Given the description of an element on the screen output the (x, y) to click on. 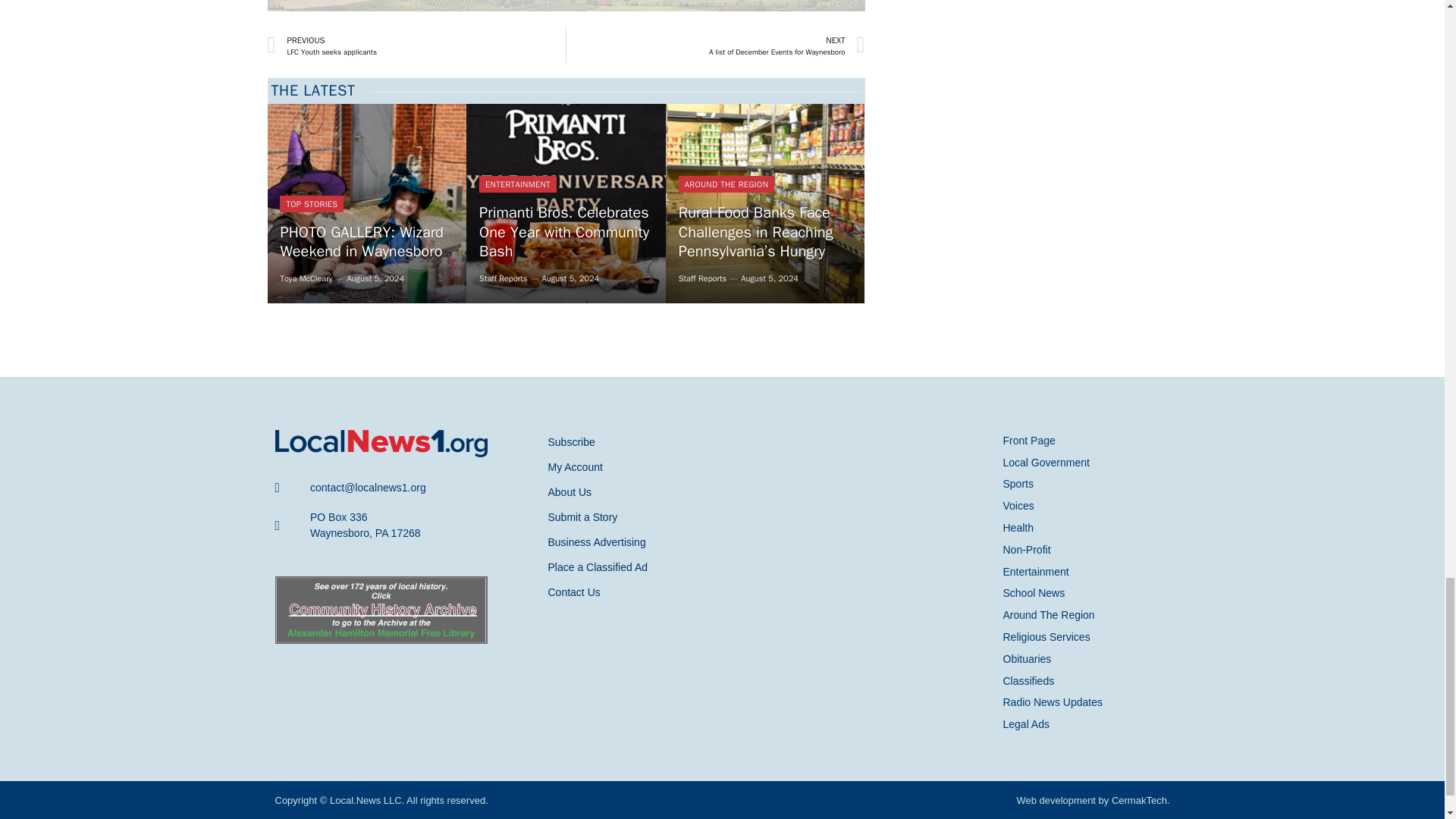
Staff Reports (503, 277)
PHOTO GALLERY: Wizard Weekend in Waynesboro (365, 241)
Staff Reports (702, 277)
Posts by Toya McCleary (305, 277)
AROUND THE REGION (726, 184)
Toya McCleary (416, 45)
Posts by Staff Reports (715, 45)
Primanti Bros. Celebrates One Year with Community Bash (305, 277)
Primanti Bros. Celebrates One Year with Community Bash (503, 277)
PHOTO GALLERY: Wizard Weekend in Waynesboro (565, 203)
TOP STORIES (565, 203)
ENTERTAINMENT (365, 203)
Posts by Staff Reports (311, 203)
